Given the description of an element on the screen output the (x, y) to click on. 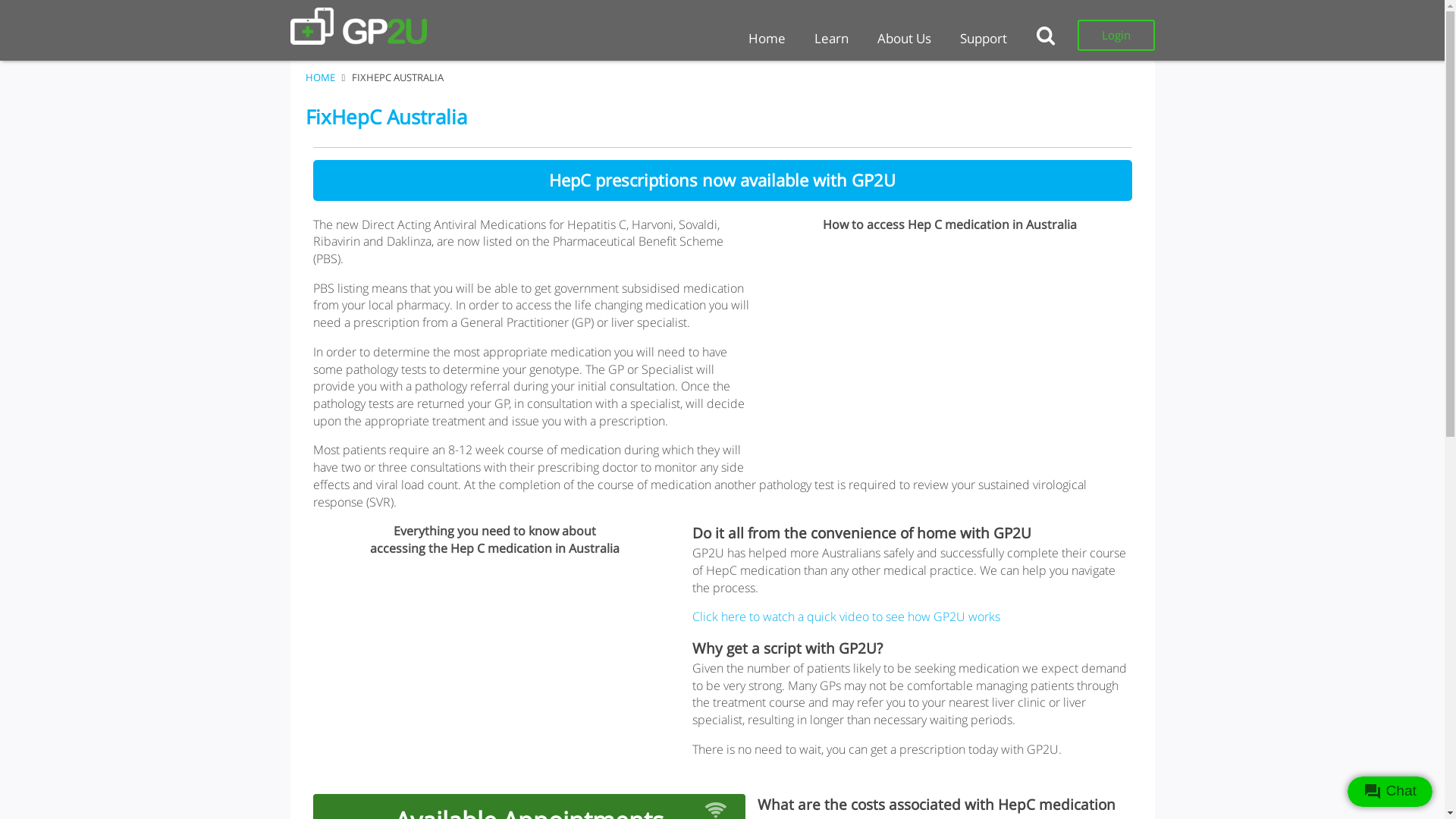
Click here to watch a quick video to see how GP2U works Element type: text (845, 616)
Login Element type: text (1115, 34)
Home Element type: text (767, 38)
Support Element type: text (982, 38)
Learn Element type: text (830, 38)
Click to search site Element type: hover (1048, 35)
HOME Element type: text (319, 77)
About Us Element type: text (903, 38)
